Given the description of an element on the screen output the (x, y) to click on. 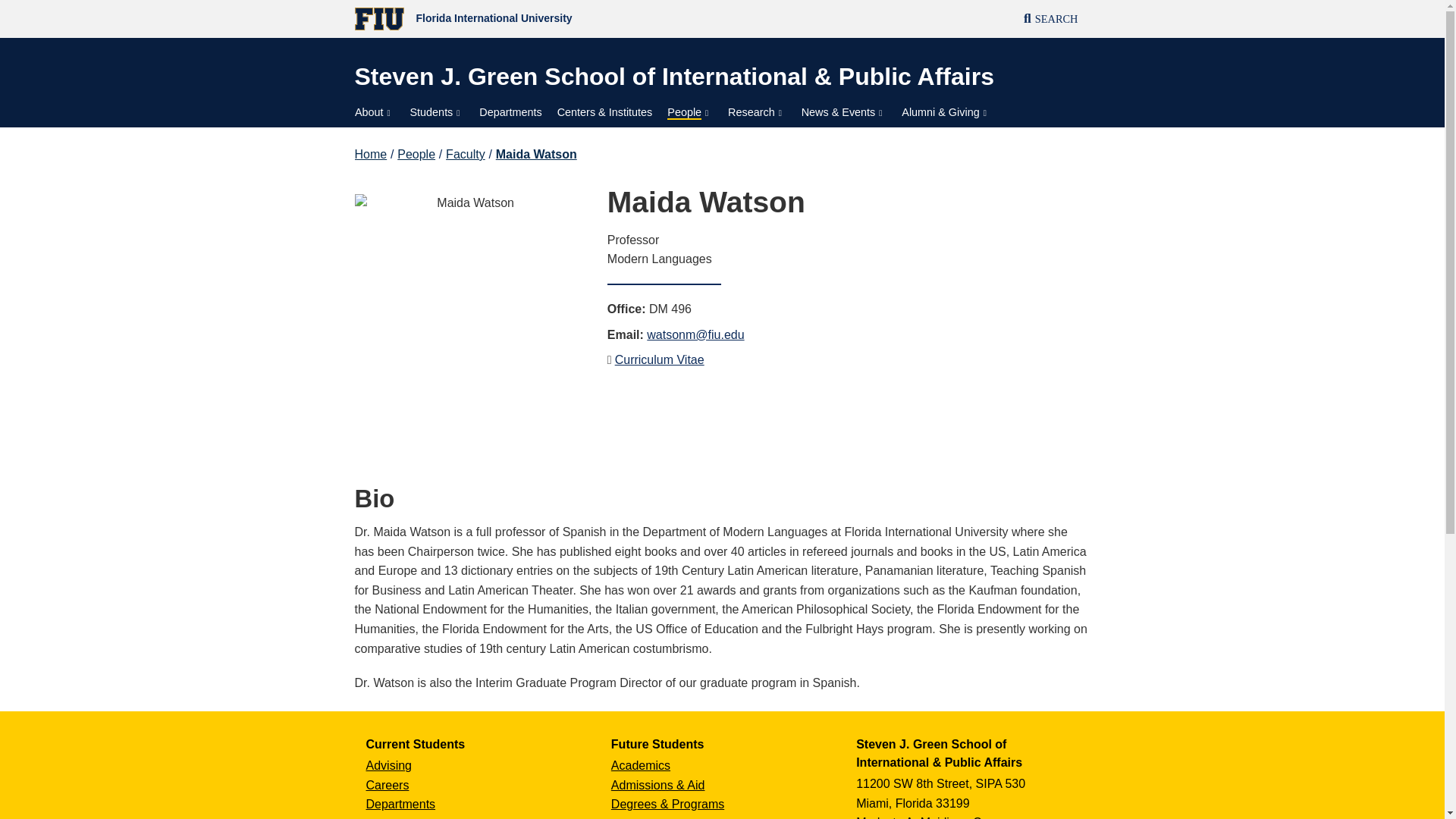
Students (437, 112)
Departments (509, 112)
About (375, 112)
Florida International University (538, 19)
People (689, 112)
SEARCH (1050, 20)
Research (756, 112)
